Given the description of an element on the screen output the (x, y) to click on. 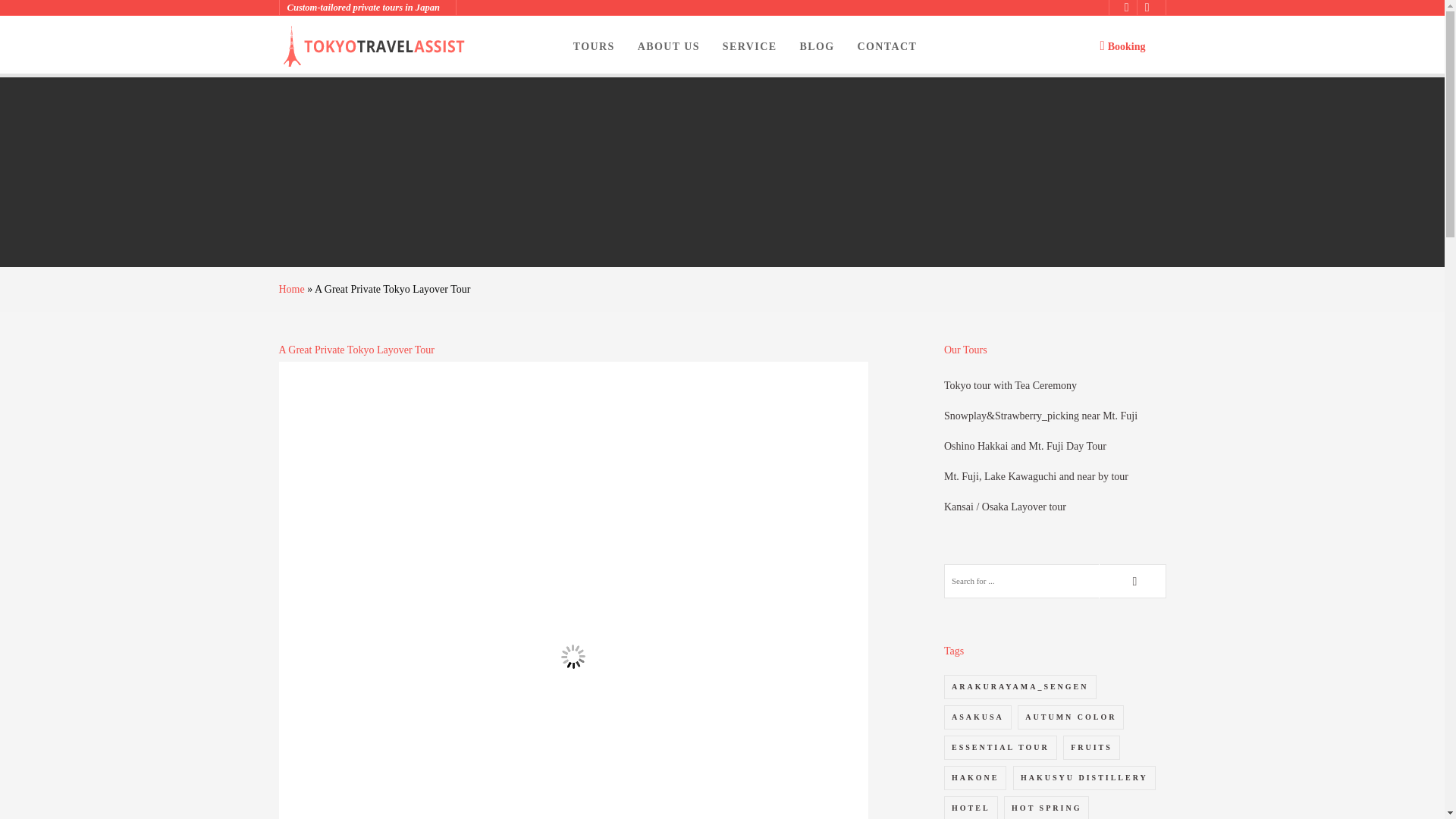
Tokyo Travel Assist.  Enjoy the local experiences! (375, 46)
Oshino Hakkai and Mt. Fuji Day Tour (1024, 446)
Tokyo tour with Tea Ceremony (1010, 385)
Mt. Fuji, Lake Kawaguchi and near by tour (1035, 476)
Home (291, 288)
CONTACT (887, 45)
SERVICE (749, 45)
ABOUT US (668, 45)
